Given the description of an element on the screen output the (x, y) to click on. 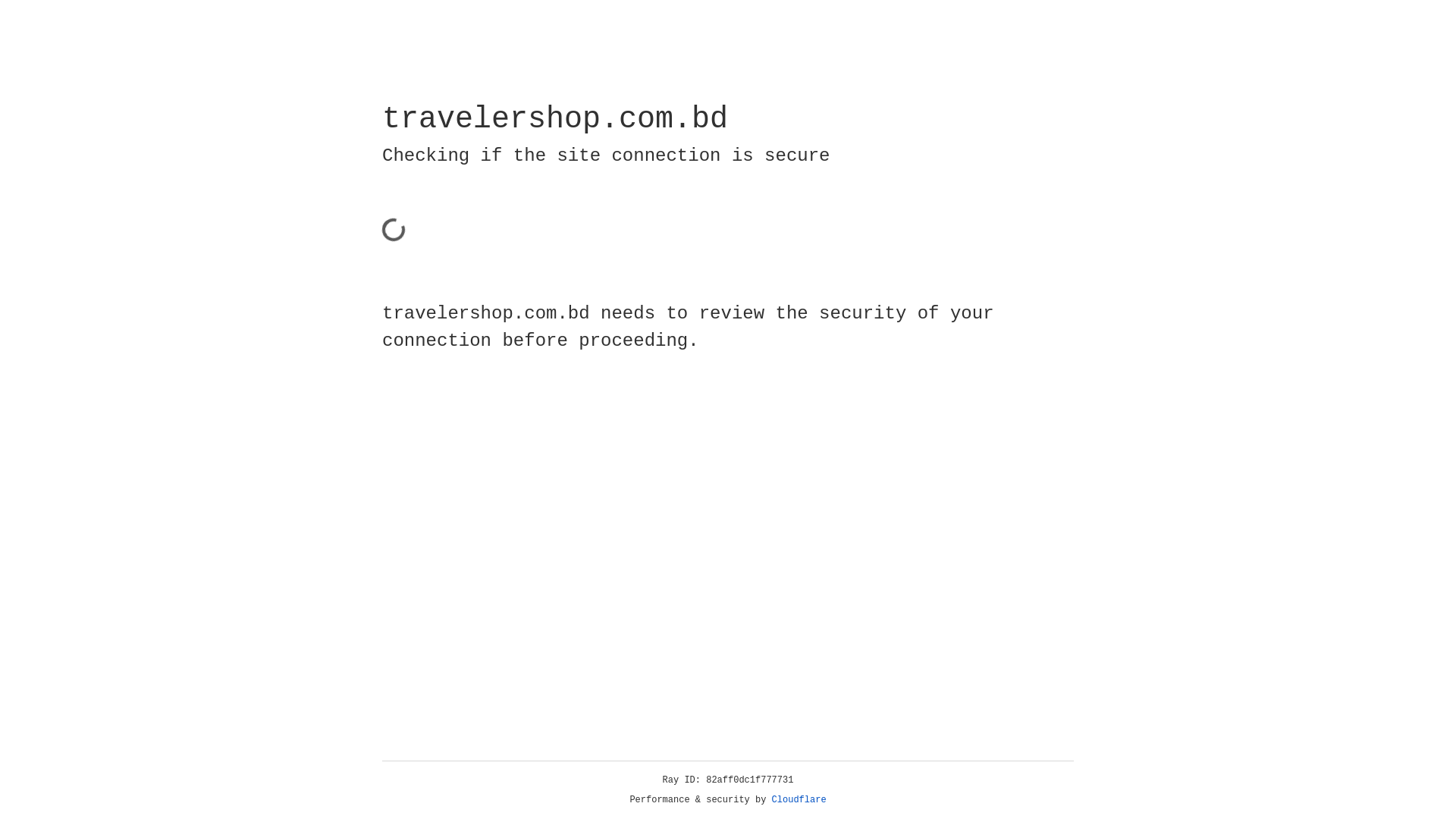
Cloudflare Element type: text (798, 799)
